Given the description of an element on the screen output the (x, y) to click on. 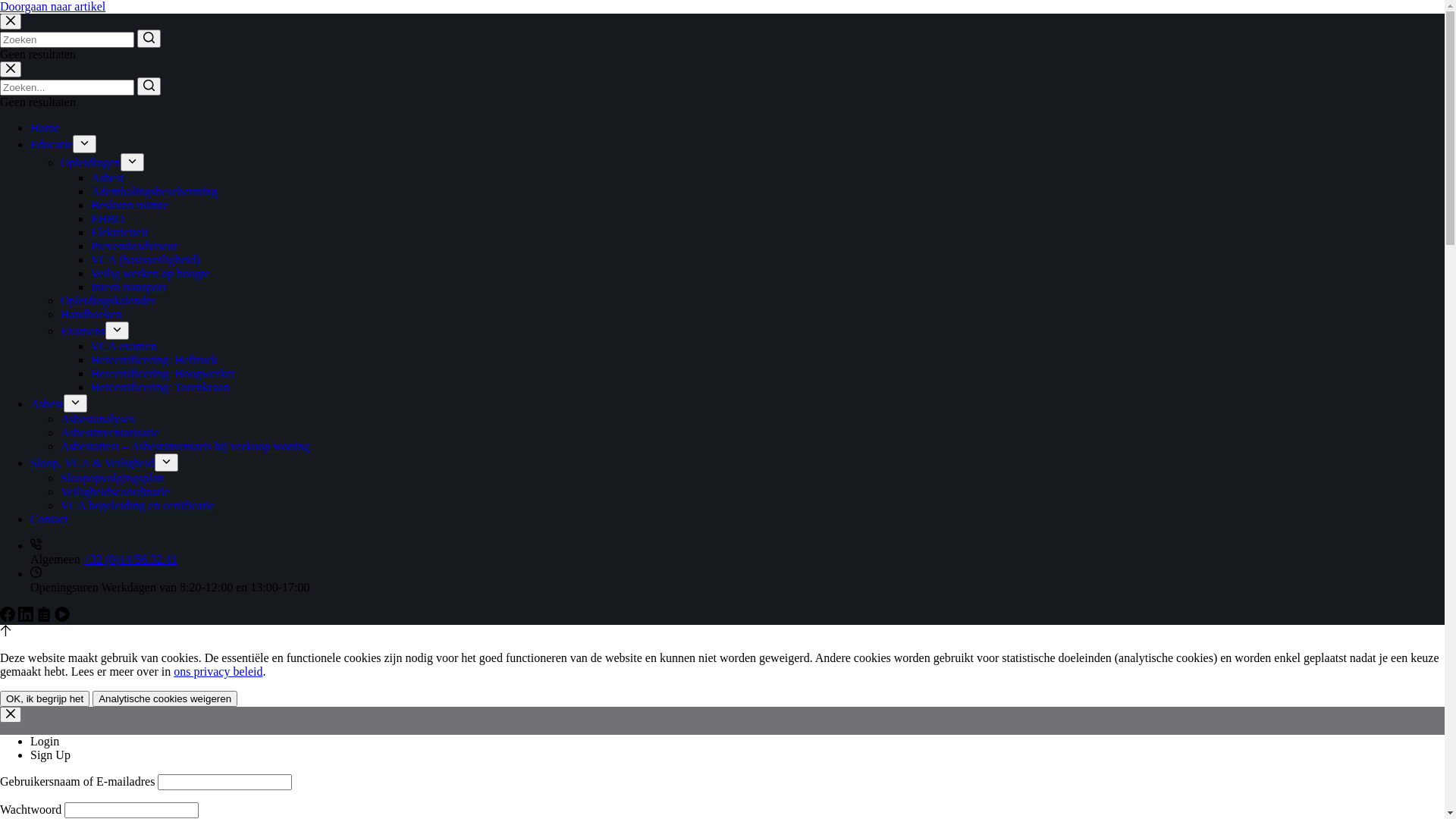
Zoek naar... Element type: hover (67, 39)
VCA begeleiding en certificatie Element type: text (137, 504)
VCA examen Element type: text (123, 345)
Preventieadviseur Element type: text (134, 245)
Contact Element type: text (49, 518)
Handboeken Element type: text (91, 313)
Sloopopvolgingsplan Element type: text (111, 477)
Opleidingskalender Element type: text (107, 300)
Hercertificering: Hoogwerker Element type: text (163, 373)
Ademhalingsbescherming Element type: text (154, 191)
Sloop, VCA & Veiligheid Element type: text (92, 462)
Home Element type: text (44, 127)
Doorgaan naar artikel Element type: text (52, 6)
Hercertificering: Torenkraan Element type: text (160, 386)
EHBO Element type: text (107, 218)
Analytische cookies weigeren Element type: text (164, 698)
OK, ik begrijp het Element type: text (44, 698)
Educatie Element type: text (51, 144)
Asbestanalyses Element type: text (97, 418)
Opleidingen Element type: text (90, 162)
ons privacy beleid Element type: text (217, 671)
Veilig werken op hoogte Element type: text (150, 272)
Intern transport Element type: text (128, 286)
+32 (0)14/56.32.41 Element type: text (130, 558)
Besloten ruimte Element type: text (129, 204)
Examens Element type: text (82, 330)
Asbest Element type: text (107, 177)
Zoek naar... Element type: hover (67, 87)
Asbestinventarisatie Element type: text (109, 432)
Elektriciteit Element type: text (119, 231)
VCA (basisveiligheid) Element type: text (145, 259)
Asbest Element type: text (46, 403)
Hercertificering: Heftruck Element type: text (154, 359)
Ga naar boven Element type: hover (5, 631)
